Given the description of an element on the screen output the (x, y) to click on. 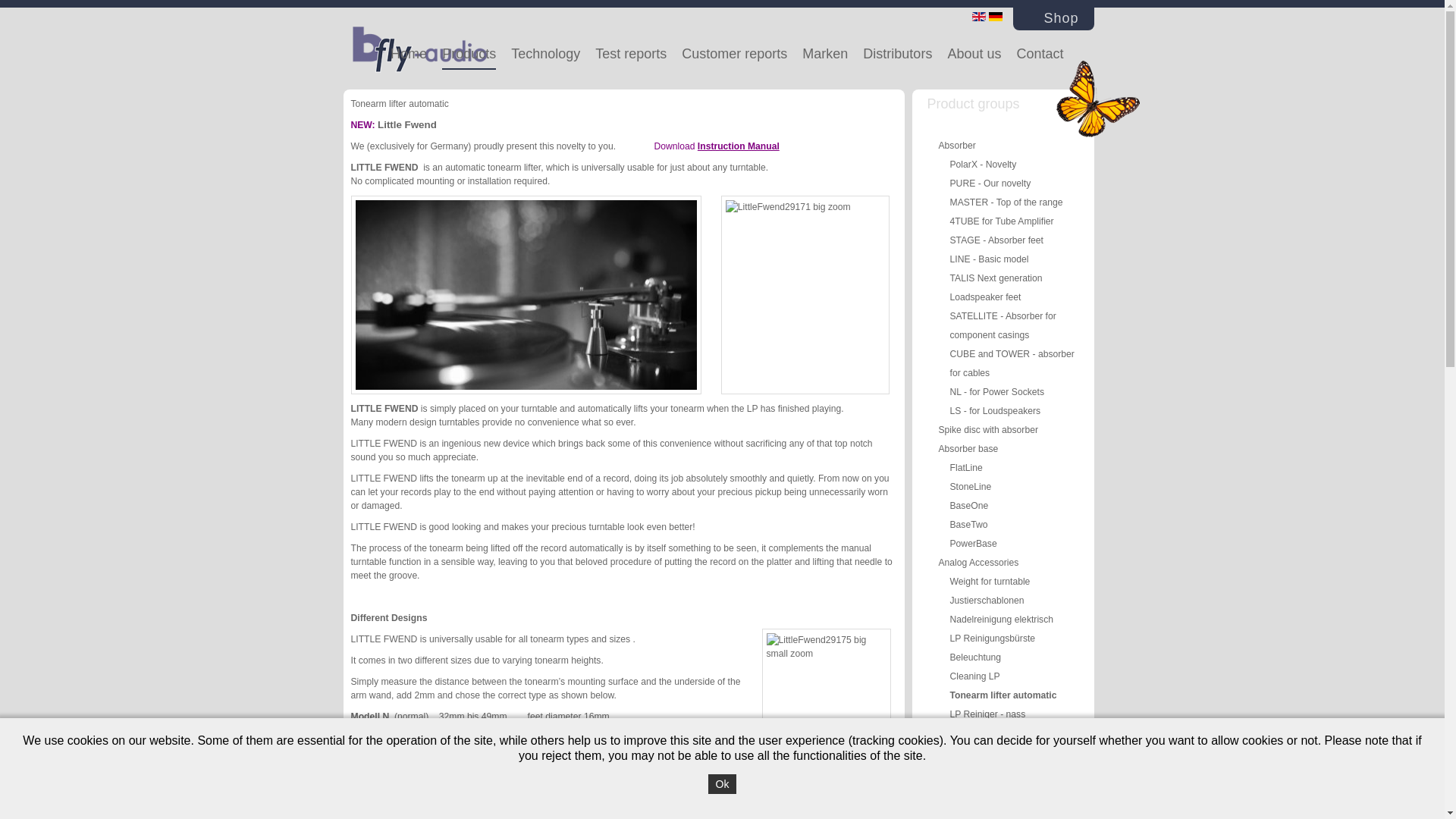
Shop (1052, 17)
Products (469, 55)
Deutsch (995, 16)
Instruction Manual Little Fwend (737, 145)
Shop (1052, 17)
Home (408, 54)
